Given the description of an element on the screen output the (x, y) to click on. 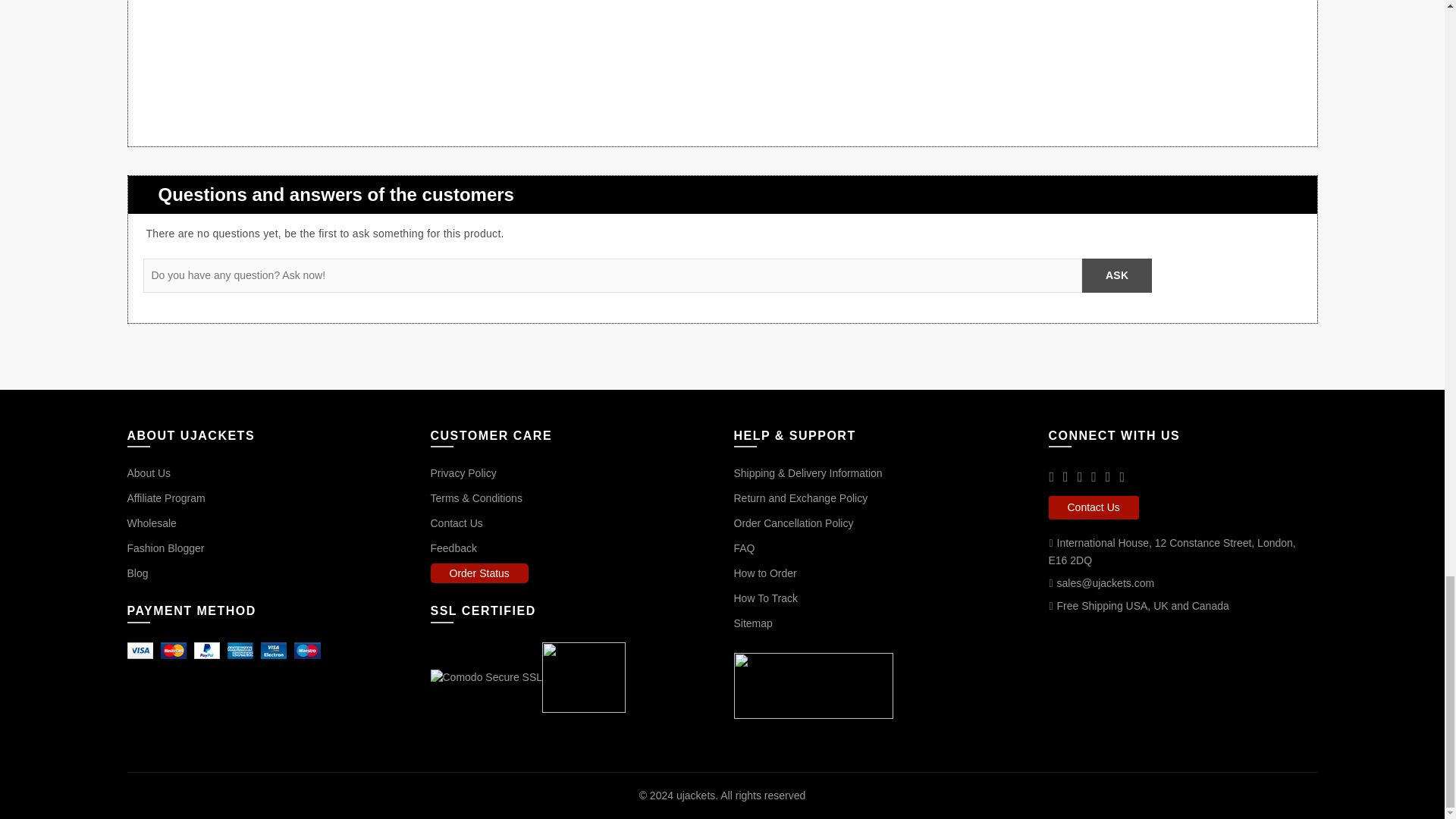
Ask your question (1116, 275)
Ask (1116, 275)
